Given the description of an element on the screen output the (x, y) to click on. 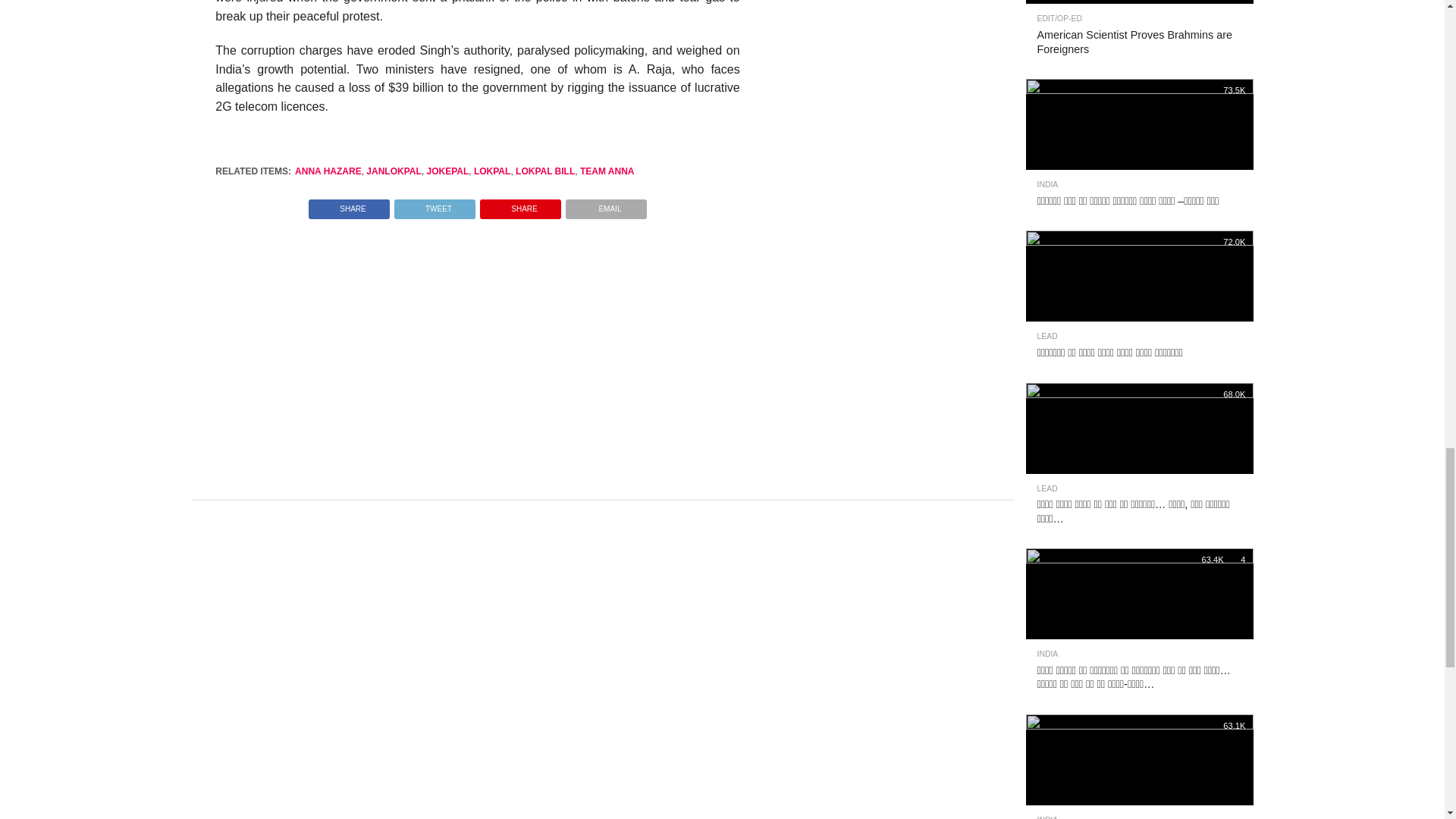
Tweet This Post (434, 205)
Share on Facebook (349, 205)
Pin This Post (520, 205)
ANNA HAZARE (328, 171)
